Given the description of an element on the screen output the (x, y) to click on. 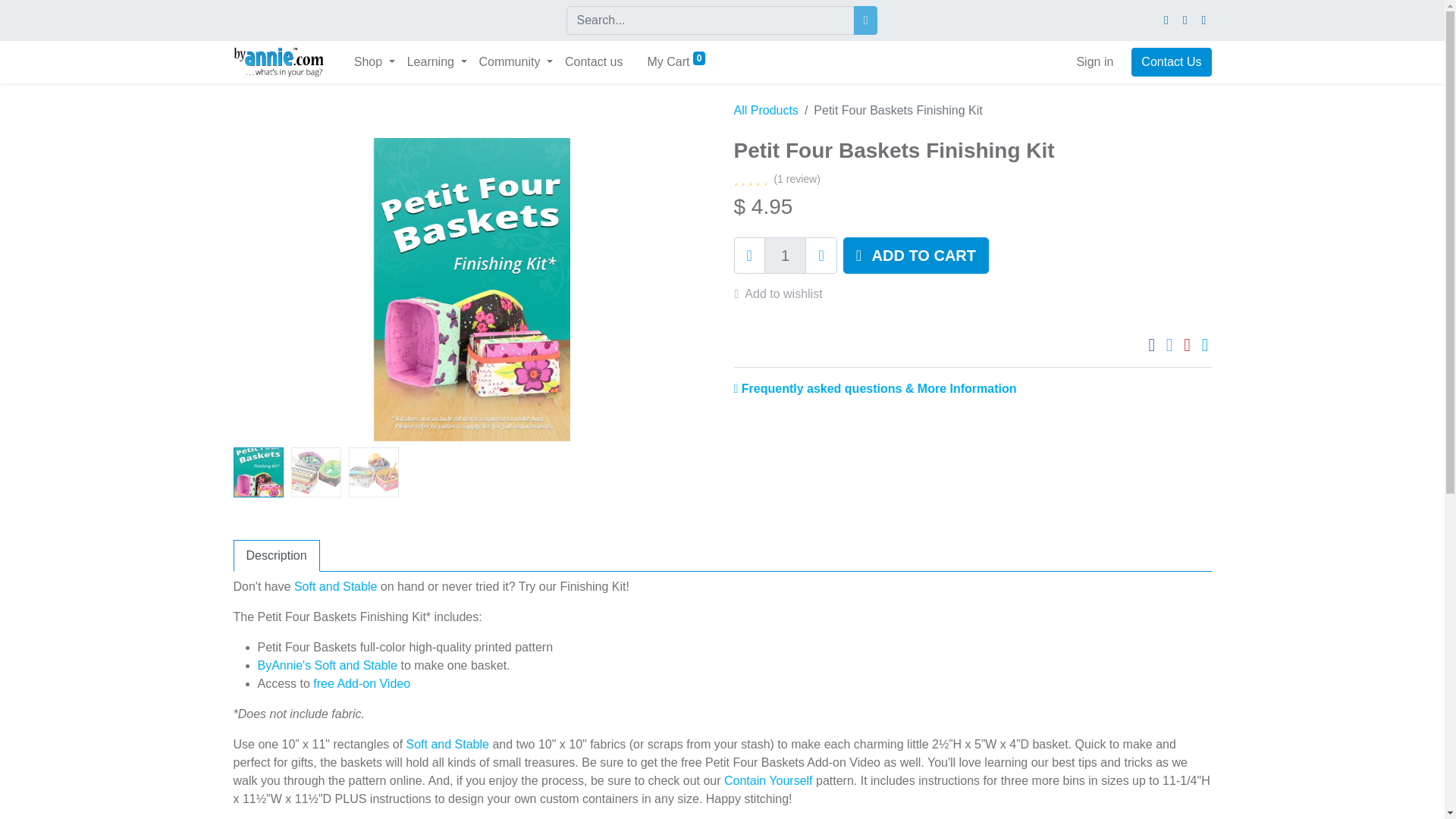
1 (785, 255)
ByAnnie.com (277, 61)
Shop (374, 61)
Learning (437, 61)
